Given the description of an element on the screen output the (x, y) to click on. 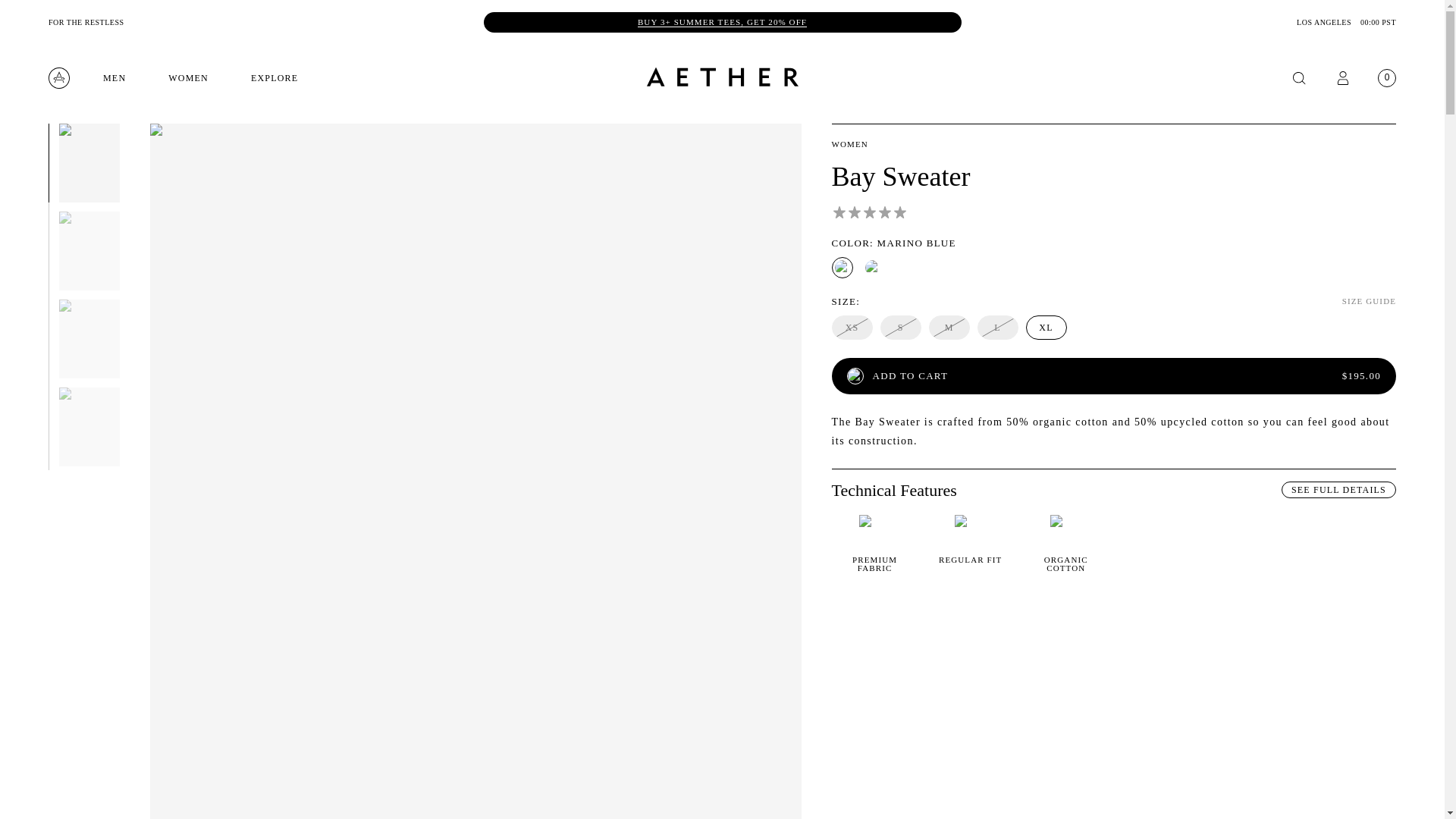
on (89, 426)
on (89, 162)
Sold out (851, 327)
EXPLORE (274, 77)
Sold out (996, 327)
0 (1386, 78)
WOMEN (849, 143)
Sold out (900, 327)
Sold out (948, 327)
WOMEN (188, 77)
SIZE GUIDE (1369, 301)
MEN (114, 77)
on (89, 250)
SEE FULL DETAILS (1338, 489)
on (89, 338)
